Given the description of an element on the screen output the (x, y) to click on. 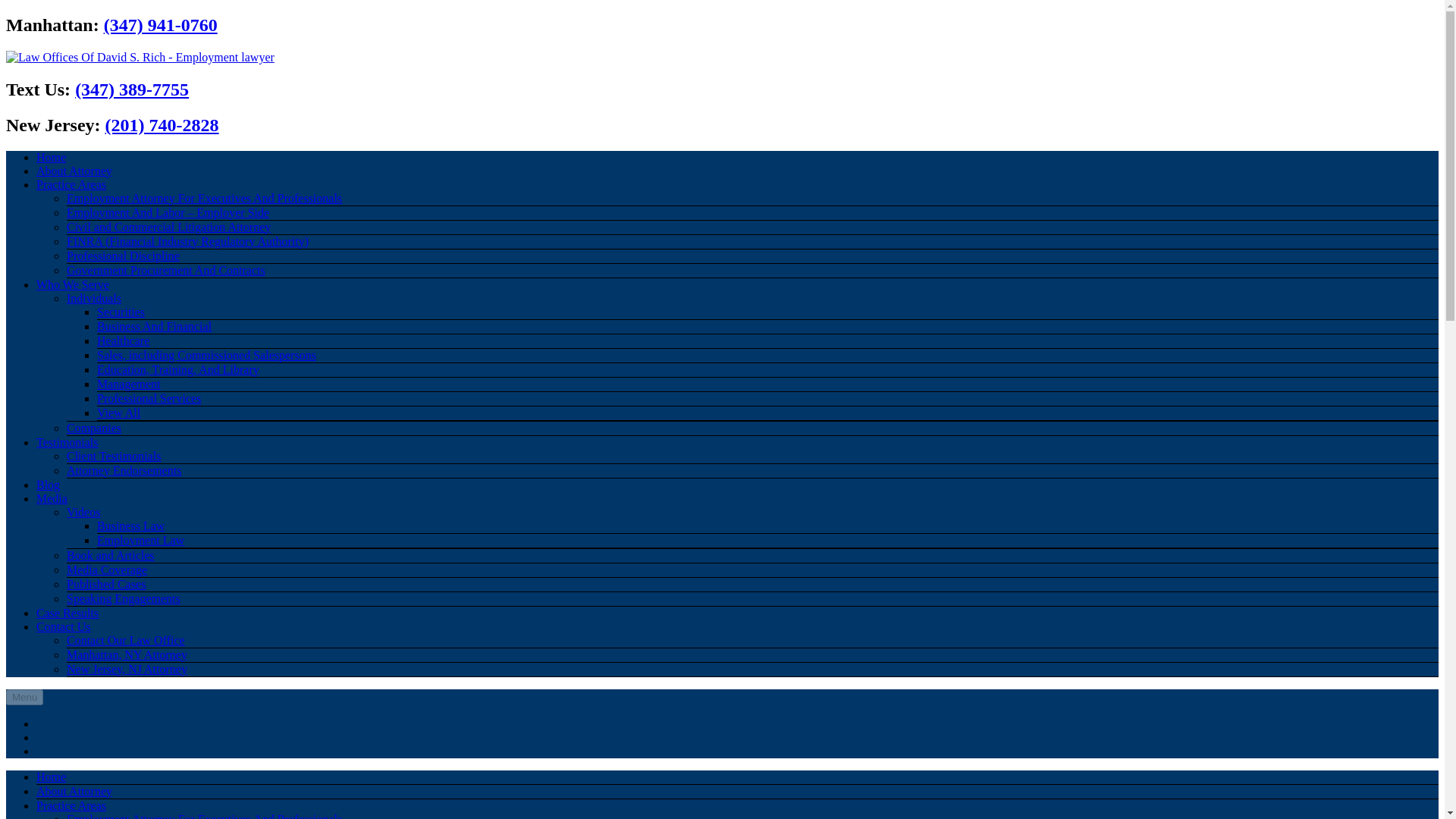
Contact Us (63, 626)
Companies (93, 427)
Attorney Endorsements (124, 470)
Media Coverage (106, 569)
Healthcare (123, 340)
Contact Our Law Office (125, 640)
Testimonials (67, 441)
Media (51, 498)
Civil and Commercial Litigation Attorney (168, 226)
Education, Training, And Library (178, 369)
Sales, including Commissioned Salespersons (206, 354)
Management (128, 383)
Manhattan, NY Attorney (126, 654)
